Given the description of an element on the screen output the (x, y) to click on. 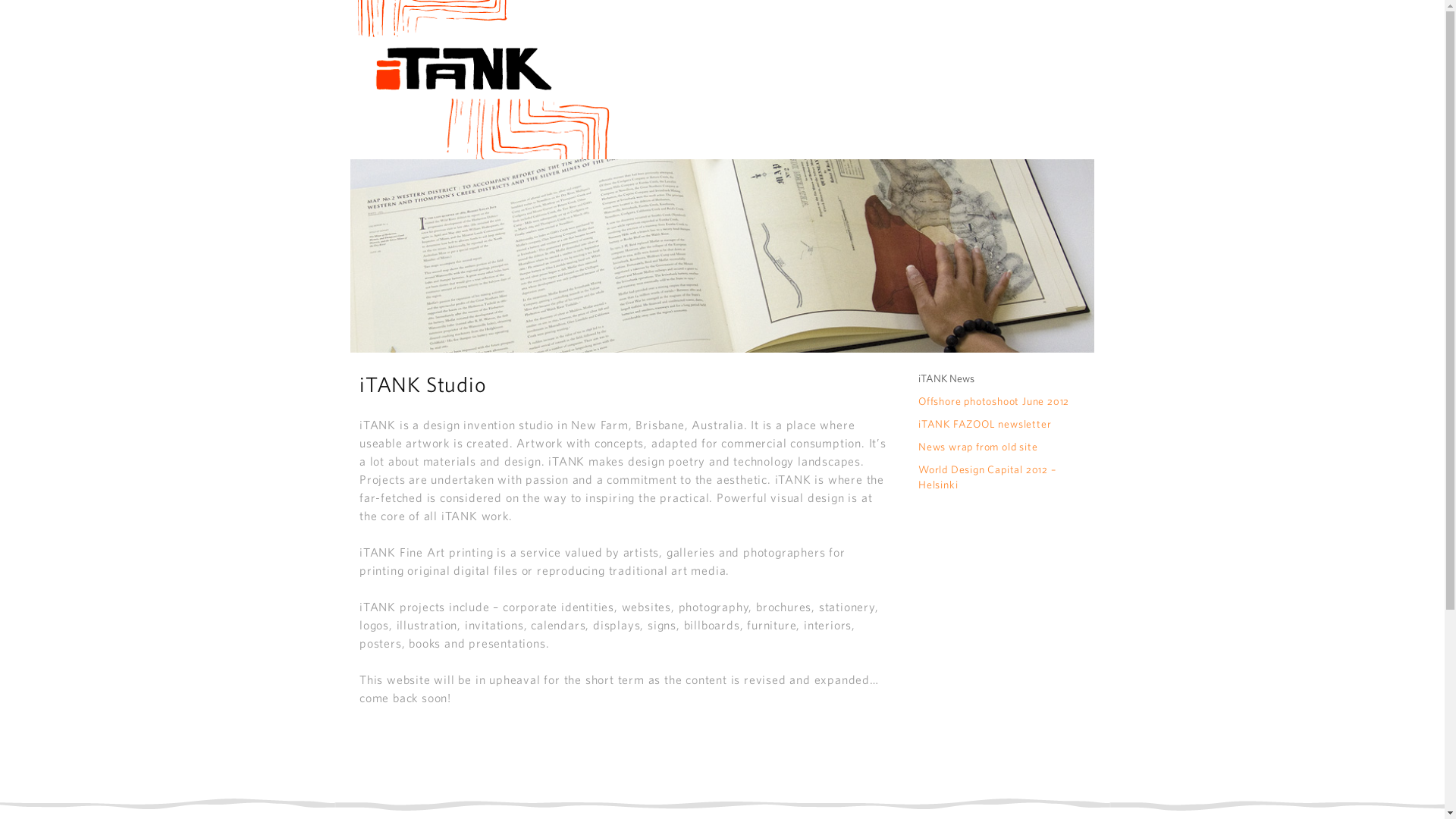
Offshore photoshoot June 2012 Element type: text (993, 401)
News wrap from old site Element type: text (977, 446)
iTANK Element type: text (480, 79)
iTANK FAZOOL newsletter Element type: text (984, 423)
